Given the description of an element on the screen output the (x, y) to click on. 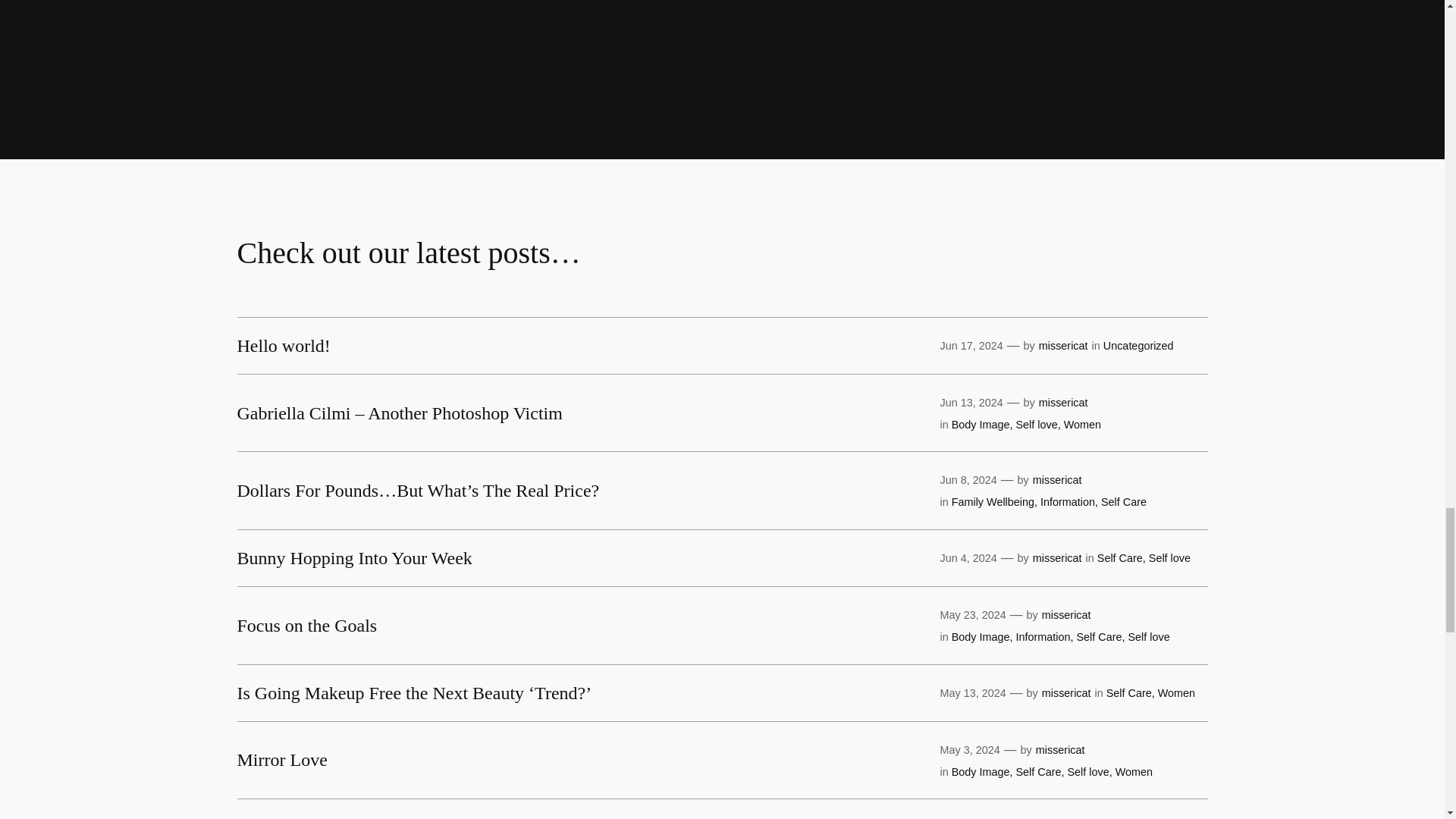
Body Image (981, 636)
Family Wellbeing (992, 501)
missericat (1066, 693)
missericat (1063, 402)
Self Care (1098, 636)
missericat (1066, 614)
Women (1082, 424)
Hello world! (282, 345)
Jun 17, 2024 (971, 345)
Focus on the Goals (306, 625)
